Given the description of an element on the screen output the (x, y) to click on. 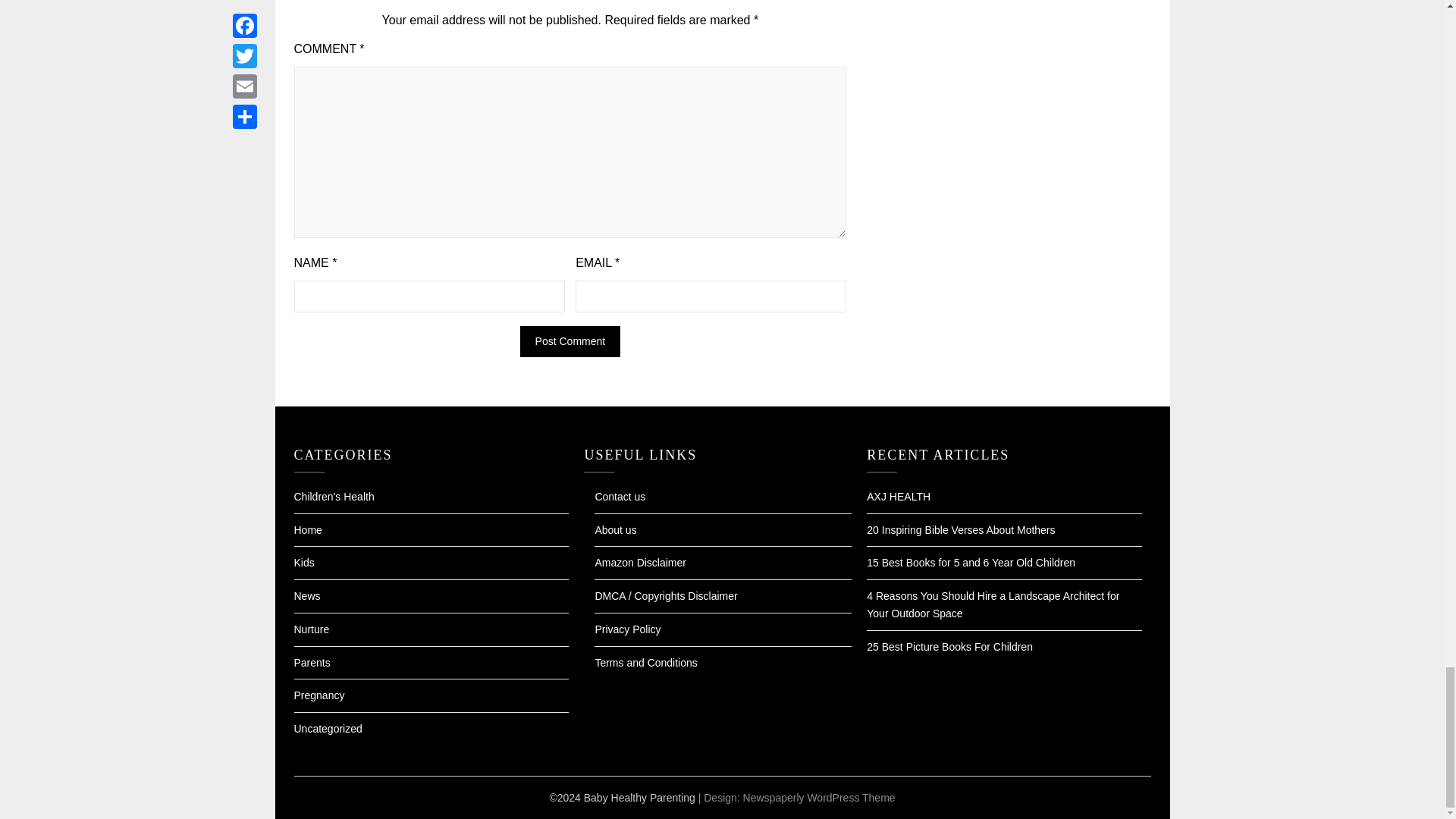
Post Comment (570, 341)
Post Comment (570, 341)
